Given the description of an element on the screen output the (x, y) to click on. 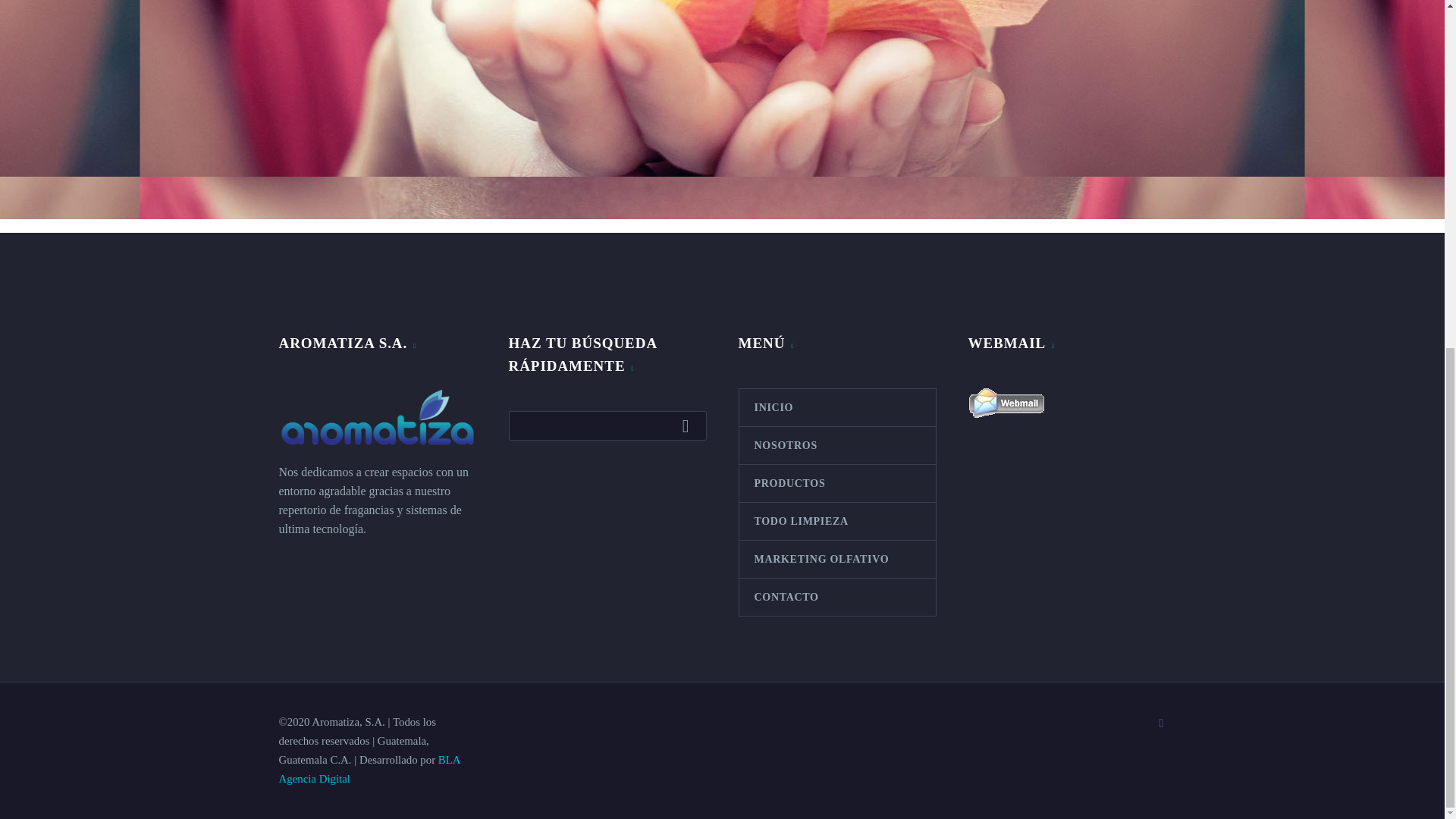
BUSCAR (689, 425)
INICIO (836, 407)
TODO LIMPIEZA (836, 520)
MARKETING OLFATIVO (836, 559)
Facebook (1161, 723)
BLA Agencia Digital (369, 768)
PRODUCTOS (836, 483)
NOSOTROS (836, 445)
CONTACTO (836, 596)
